Given the description of an element on the screen output the (x, y) to click on. 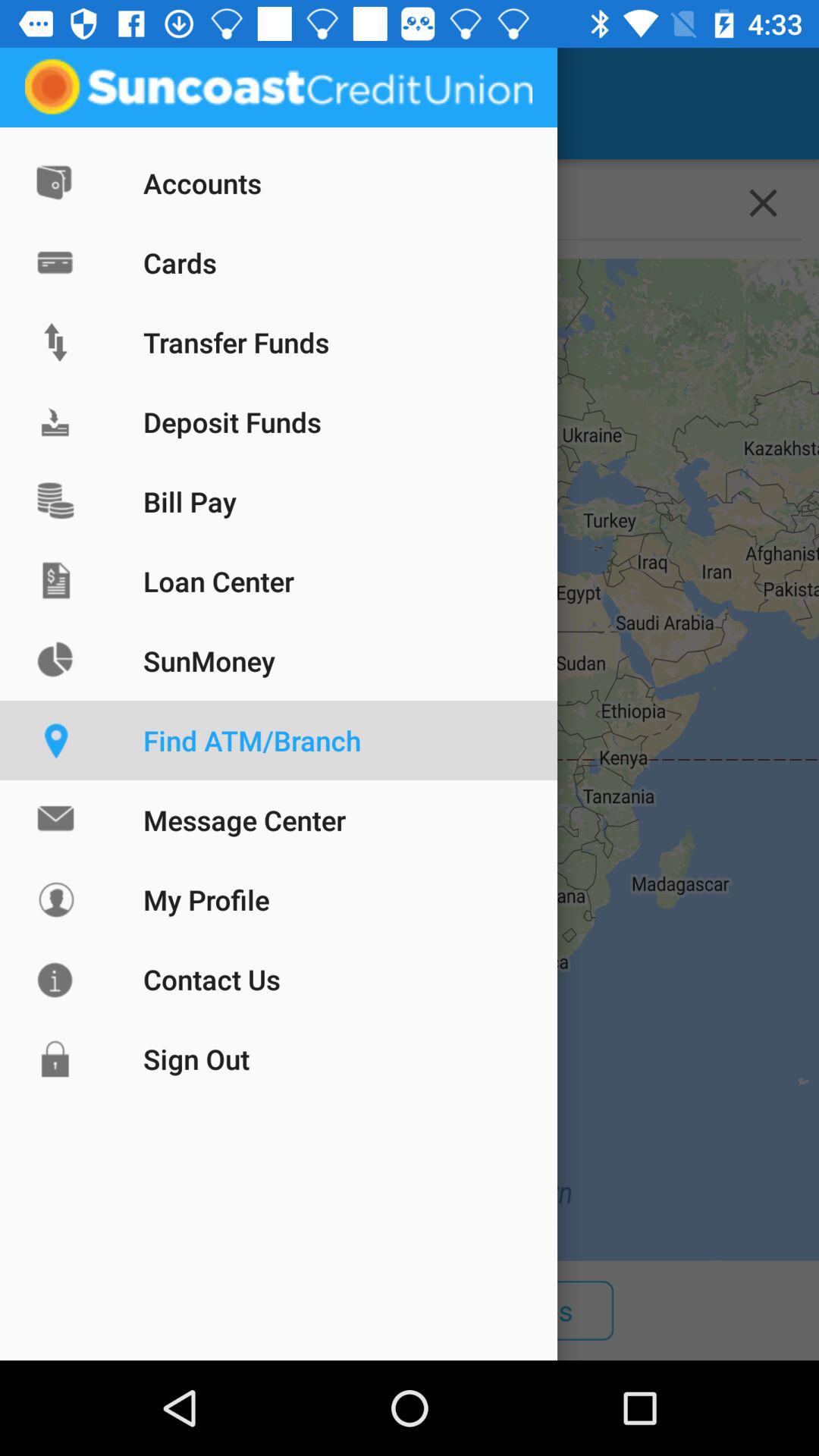
turn on icon above 10212 icon (55, 103)
